Given the description of an element on the screen output the (x, y) to click on. 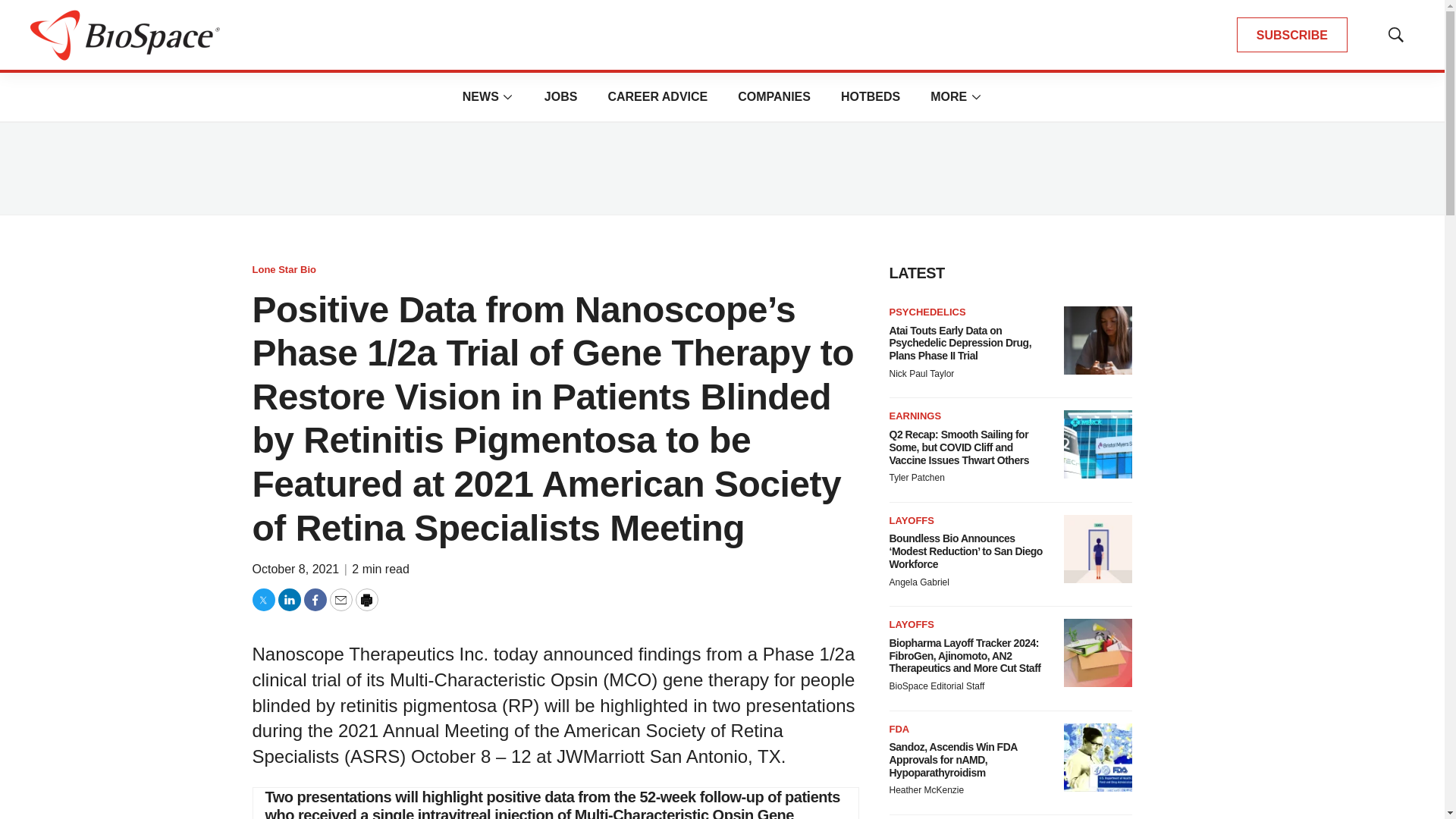
3rd party ad content (721, 168)
SUBSCRIBE (1292, 34)
Show Search (1395, 34)
NEWS (481, 96)
